Given the description of an element on the screen output the (x, y) to click on. 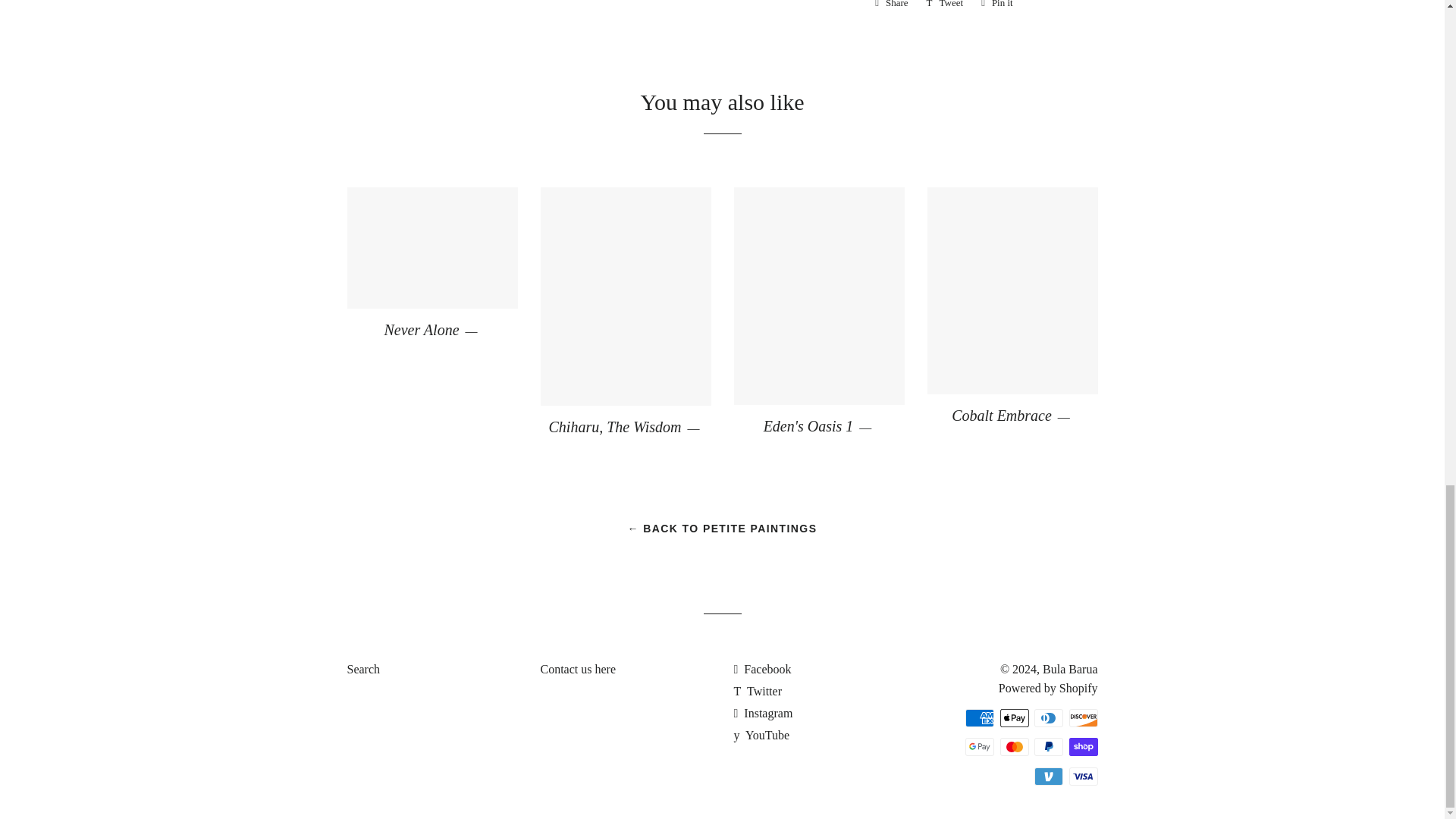
Shop Pay (1082, 746)
Visa (1082, 776)
Bula Barua  on YouTube (761, 735)
Pin on Pinterest (997, 7)
Apple Pay (1012, 718)
PayPal (1047, 746)
Bula Barua  on Facebook (762, 668)
Tweet on Twitter (944, 7)
Diners Club (1047, 718)
Venmo (1047, 776)
